Given the description of an element on the screen output the (x, y) to click on. 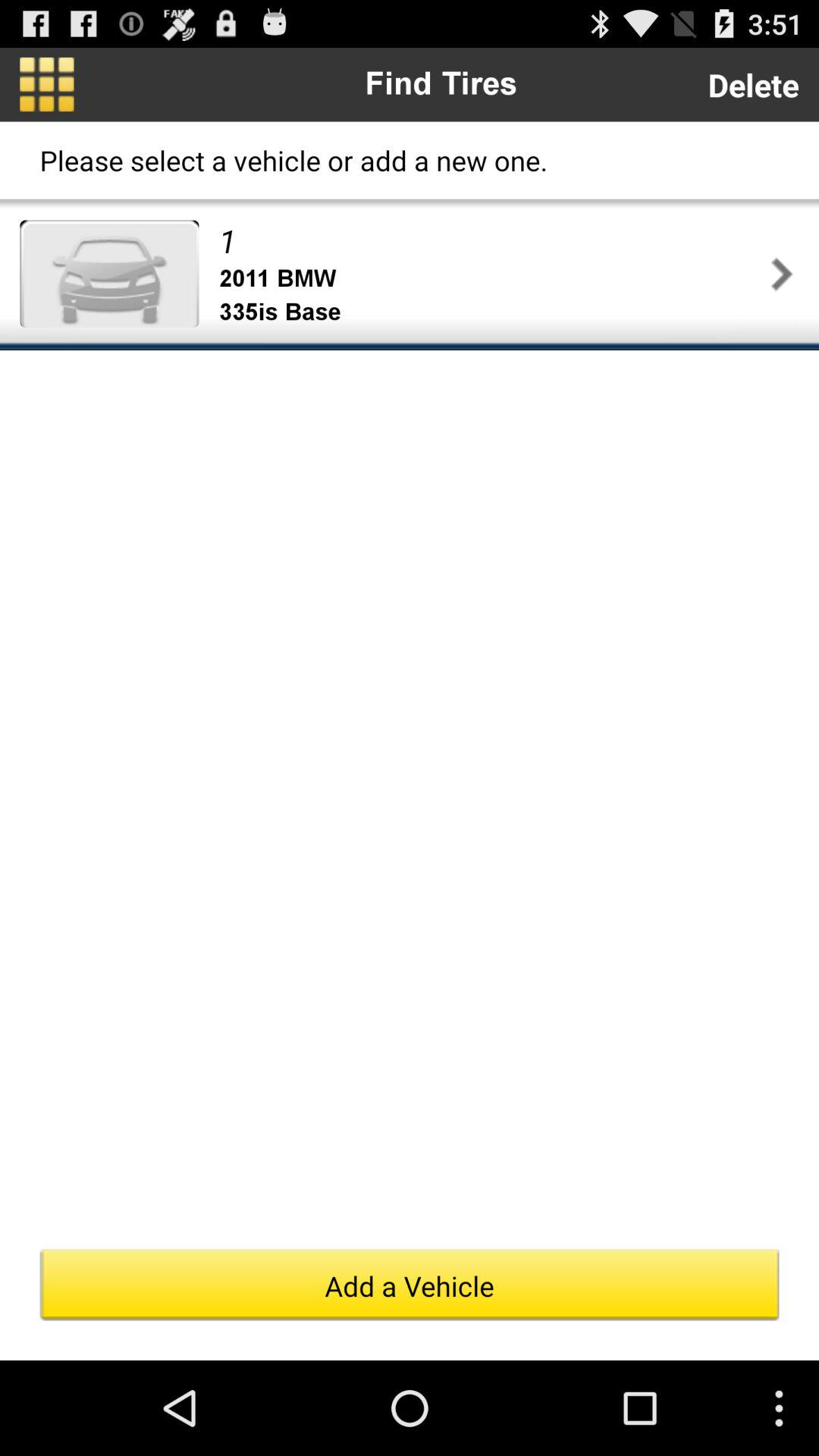
open the item to the left of find tires item (46, 84)
